Given the description of an element on the screen output the (x, y) to click on. 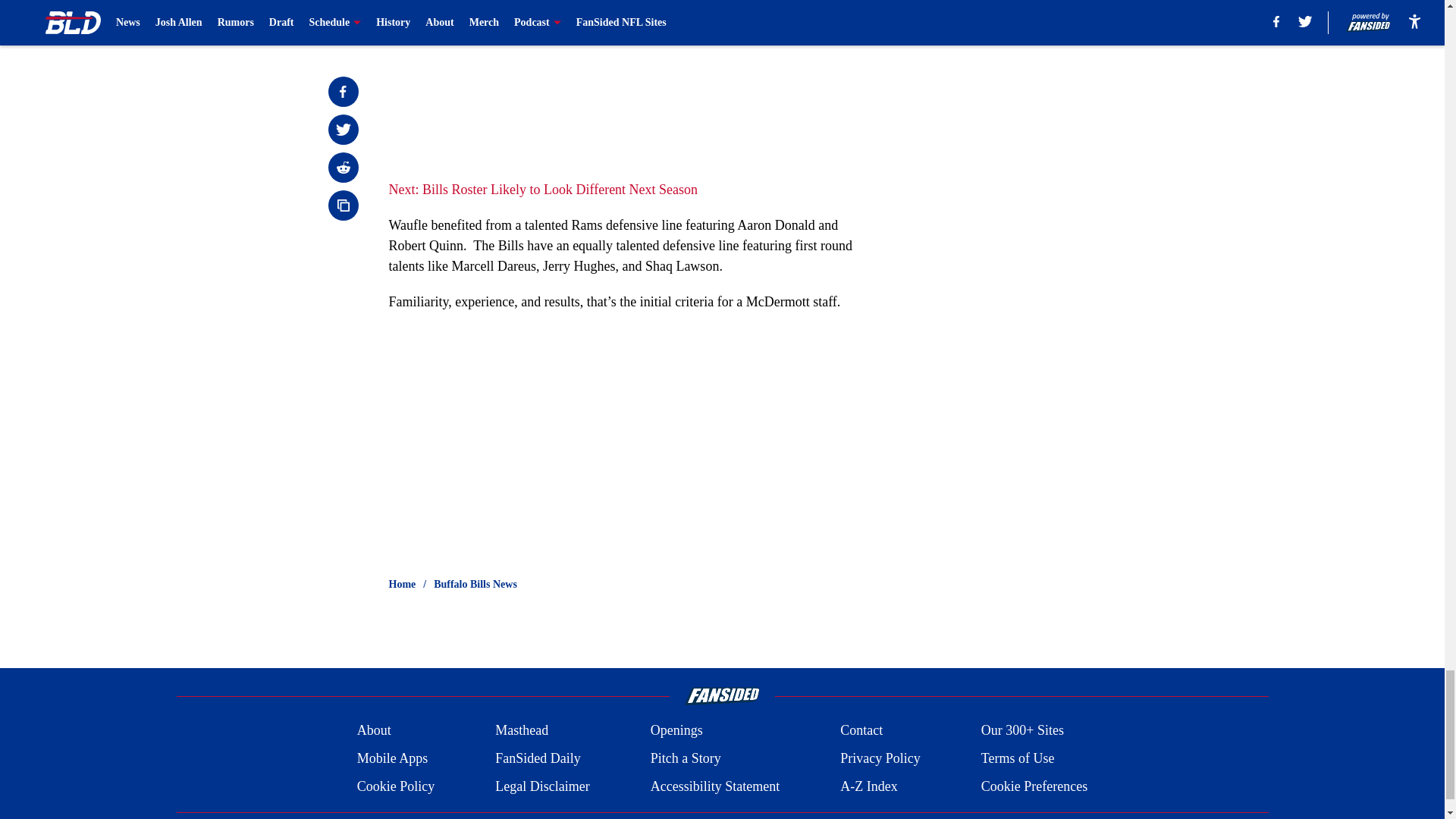
Next: Bills Roster Likely to Look Different Next Season (542, 189)
Home (401, 584)
